Given the description of an element on the screen output the (x, y) to click on. 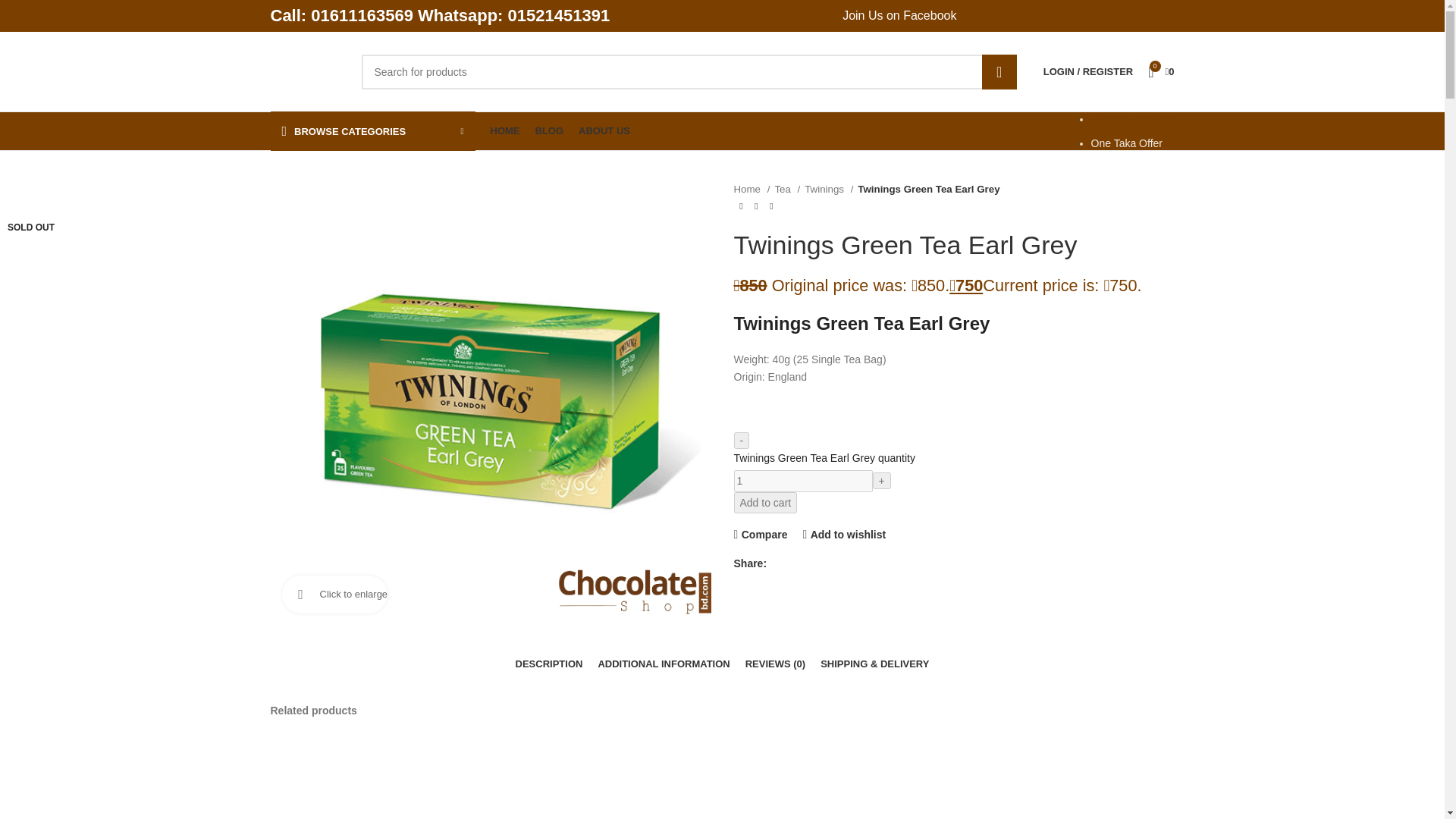
Join Us on Facebook (899, 16)
Search for products (688, 71)
1 (802, 480)
Search (998, 71)
My account (1087, 71)
Shopping cart (1160, 71)
- (741, 440)
